Given the description of an element on the screen output the (x, y) to click on. 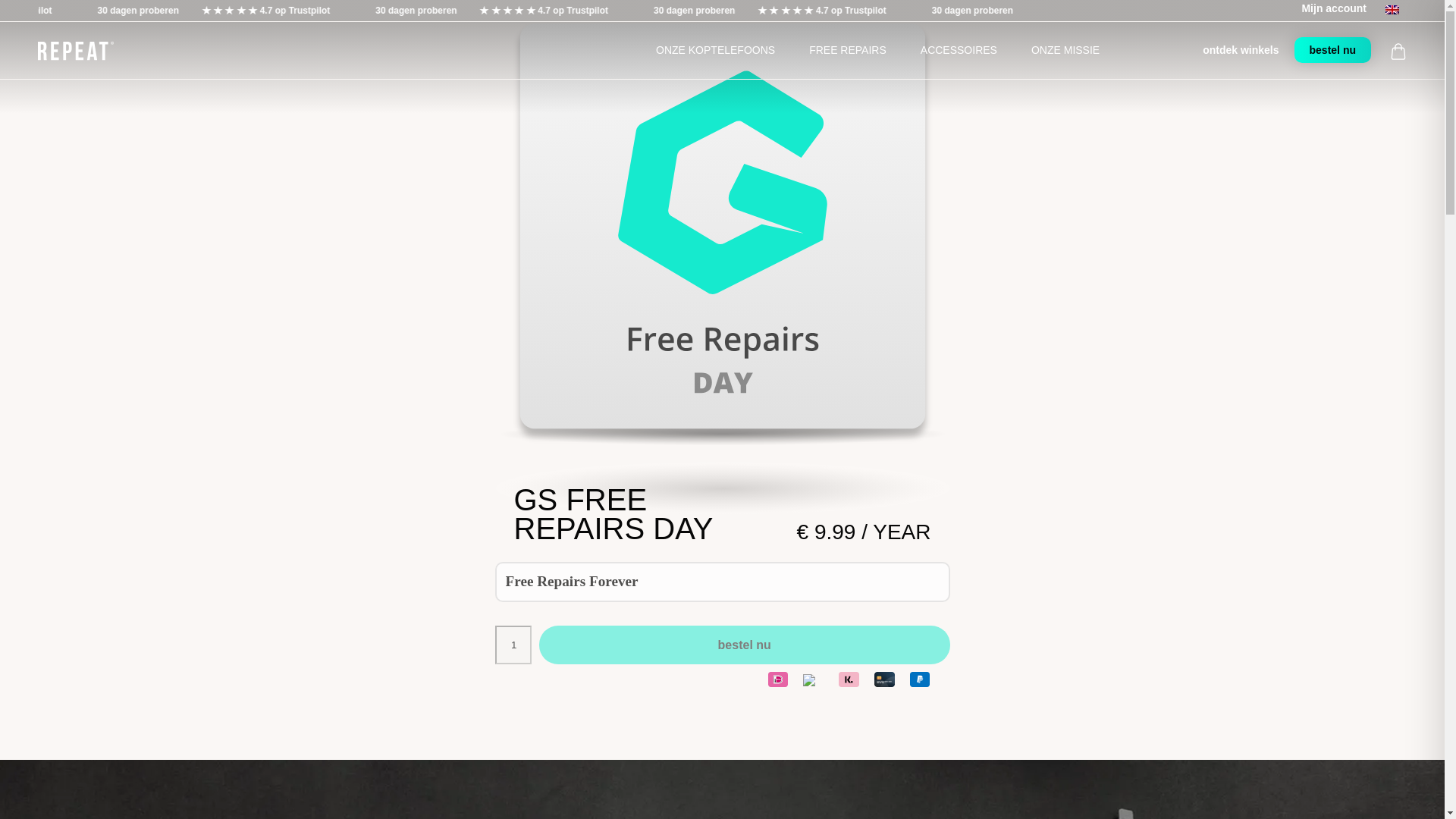
30 dagen proberen (1022, 10)
30 dagen proberen (745, 10)
FREE REPAIRS (847, 50)
ONZE KOPTELEFOONS (715, 50)
Mijn account (1334, 8)
English (1392, 8)
30 dagen proberen (191, 10)
1 (513, 645)
30 dagen proberen (468, 10)
ACCESSOIRES (958, 50)
